Given the description of an element on the screen output the (x, y) to click on. 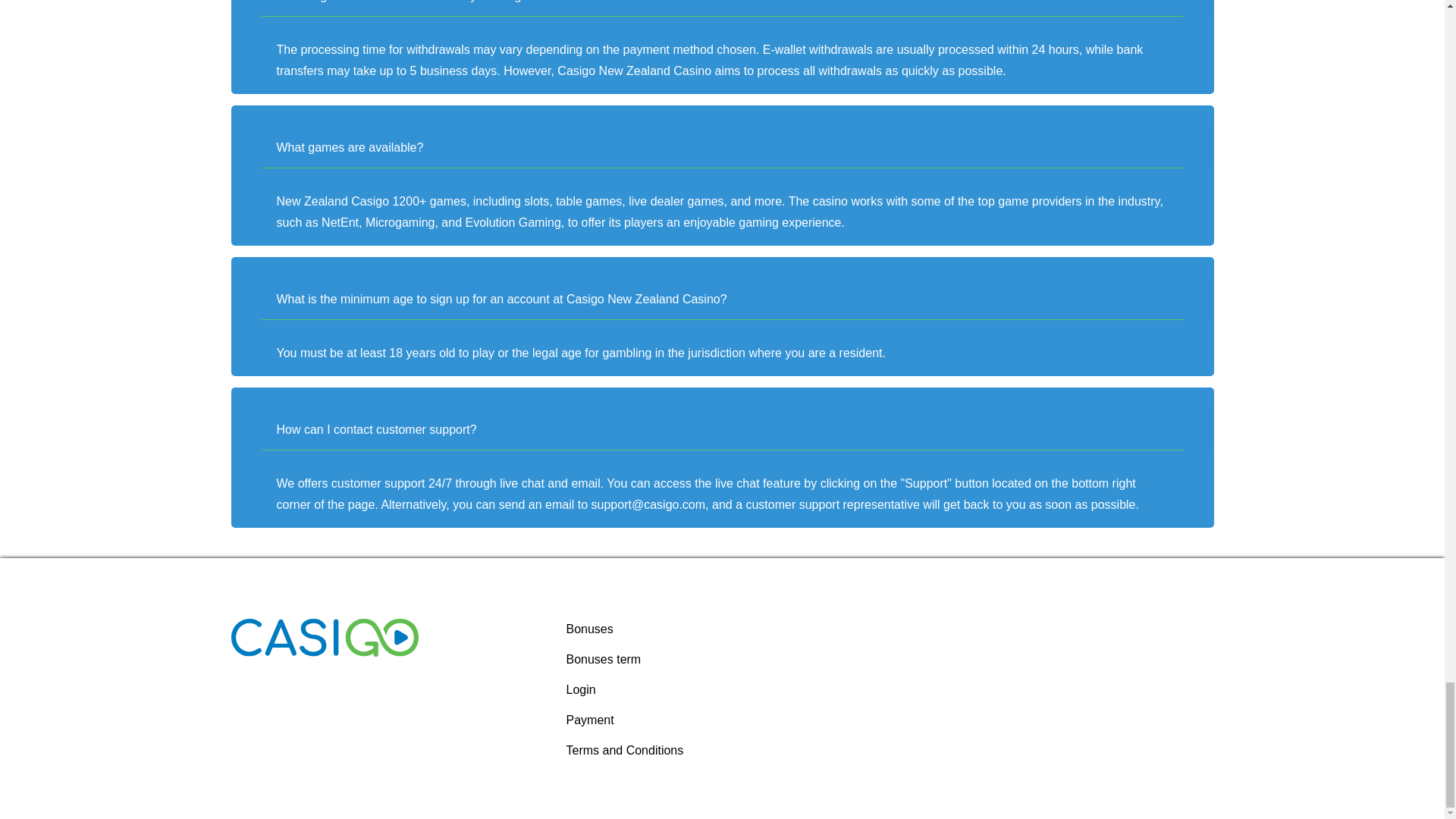
Login (580, 689)
Bonuses (589, 628)
Payment (589, 719)
How long does it take to withdraw my winnings? (751, 7)
Terms and Conditions (624, 749)
Bonuses term (603, 658)
What games are available? (751, 147)
How can I contact customer support? (751, 429)
